Given the description of an element on the screen output the (x, y) to click on. 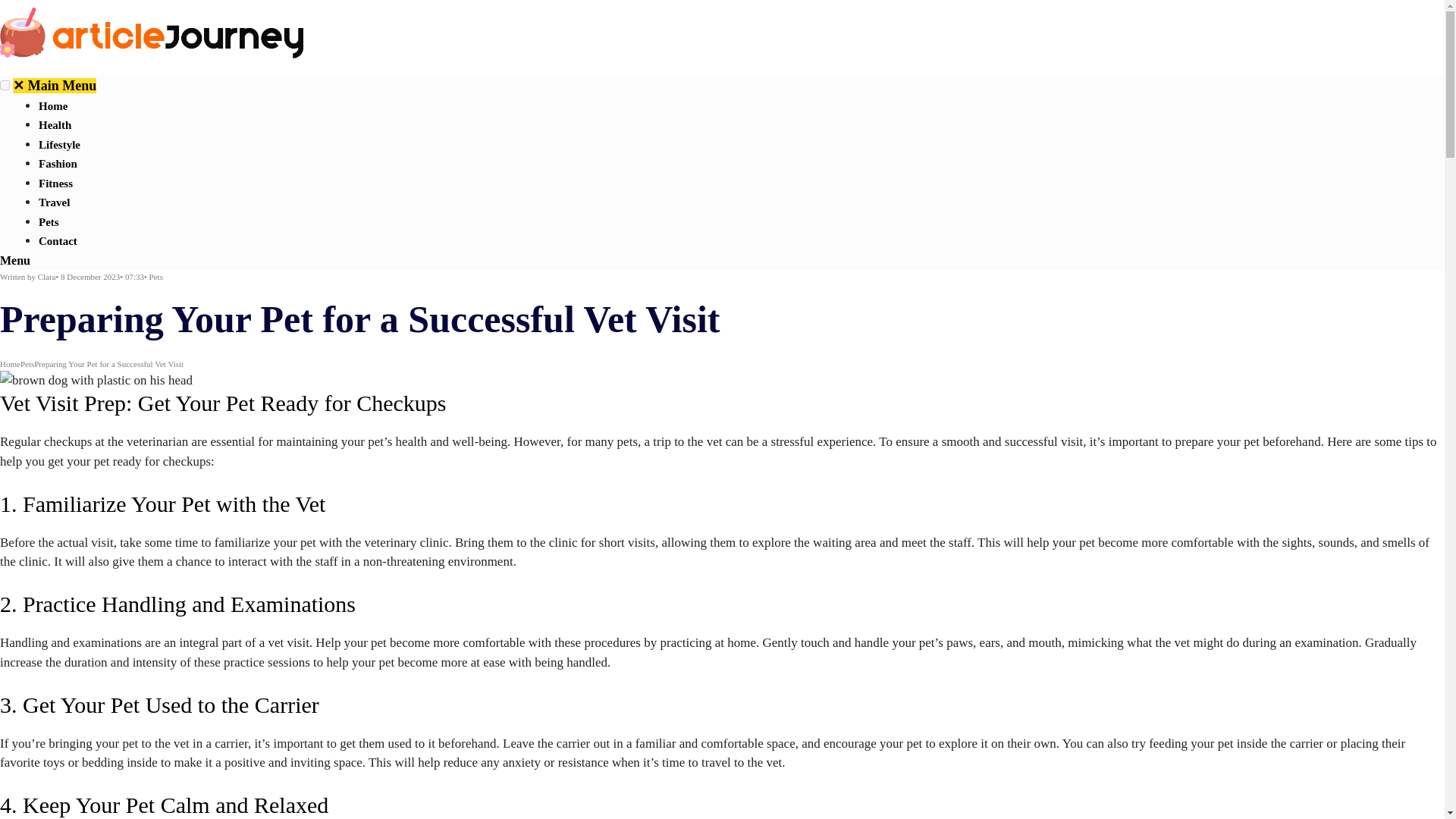
Contact (58, 241)
Health (55, 124)
Fitness (55, 183)
Fashion (58, 163)
Home (10, 363)
Travel (54, 202)
Pets (49, 222)
Clara (46, 276)
Familiarize Your Pet with the Vet (173, 503)
on (5, 85)
Pets (156, 276)
Home (52, 105)
Menu (15, 259)
Lifestyle (59, 144)
Pets (26, 363)
